Given the description of an element on the screen output the (x, y) to click on. 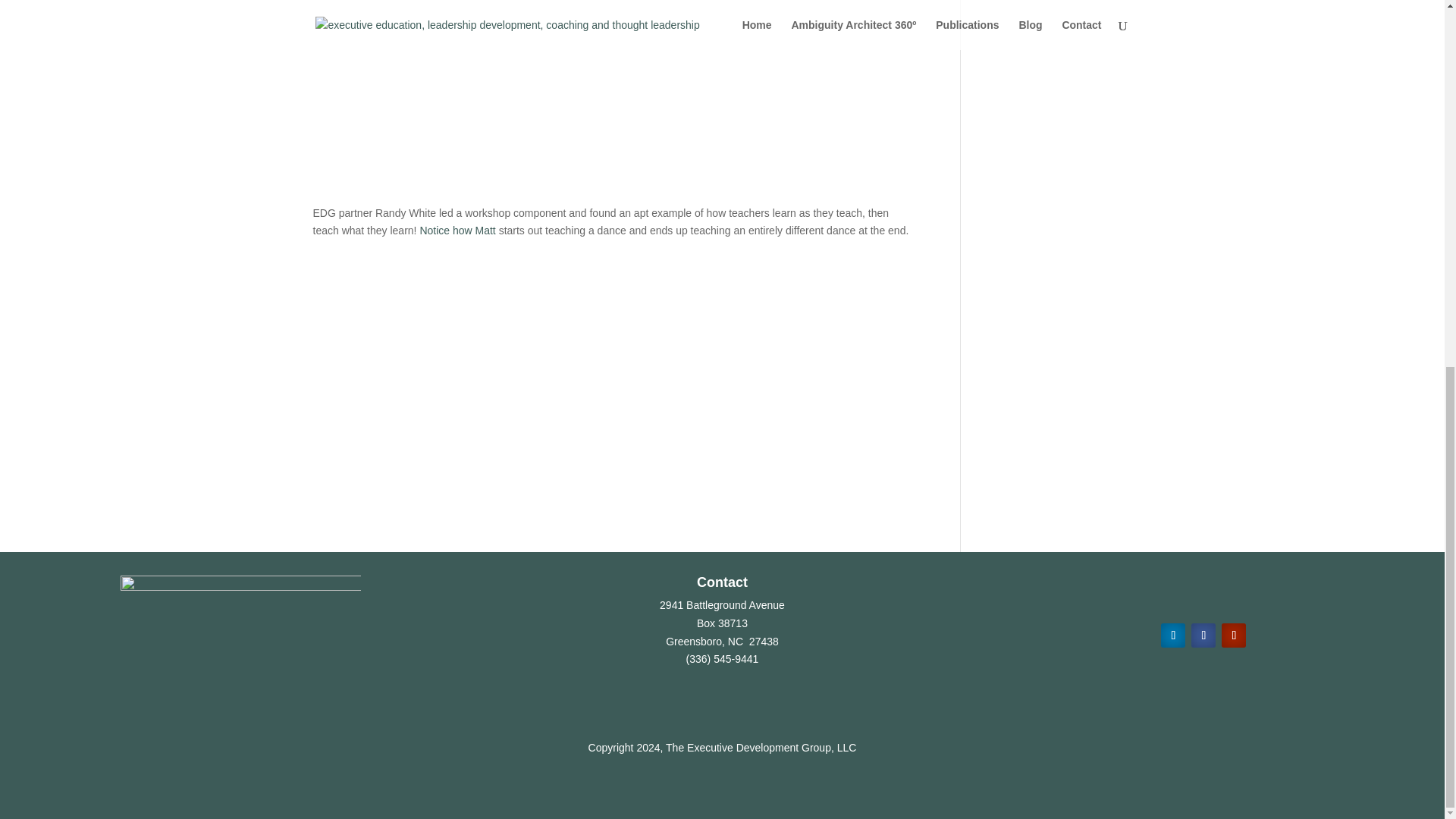
Follow on Facebook (1203, 635)
Follow on Youtube (1233, 635)
Follow on LinkedIn (1172, 635)
edg-logo-reverse (240, 624)
Notice how Matt (457, 230)
